Given the description of an element on the screen output the (x, y) to click on. 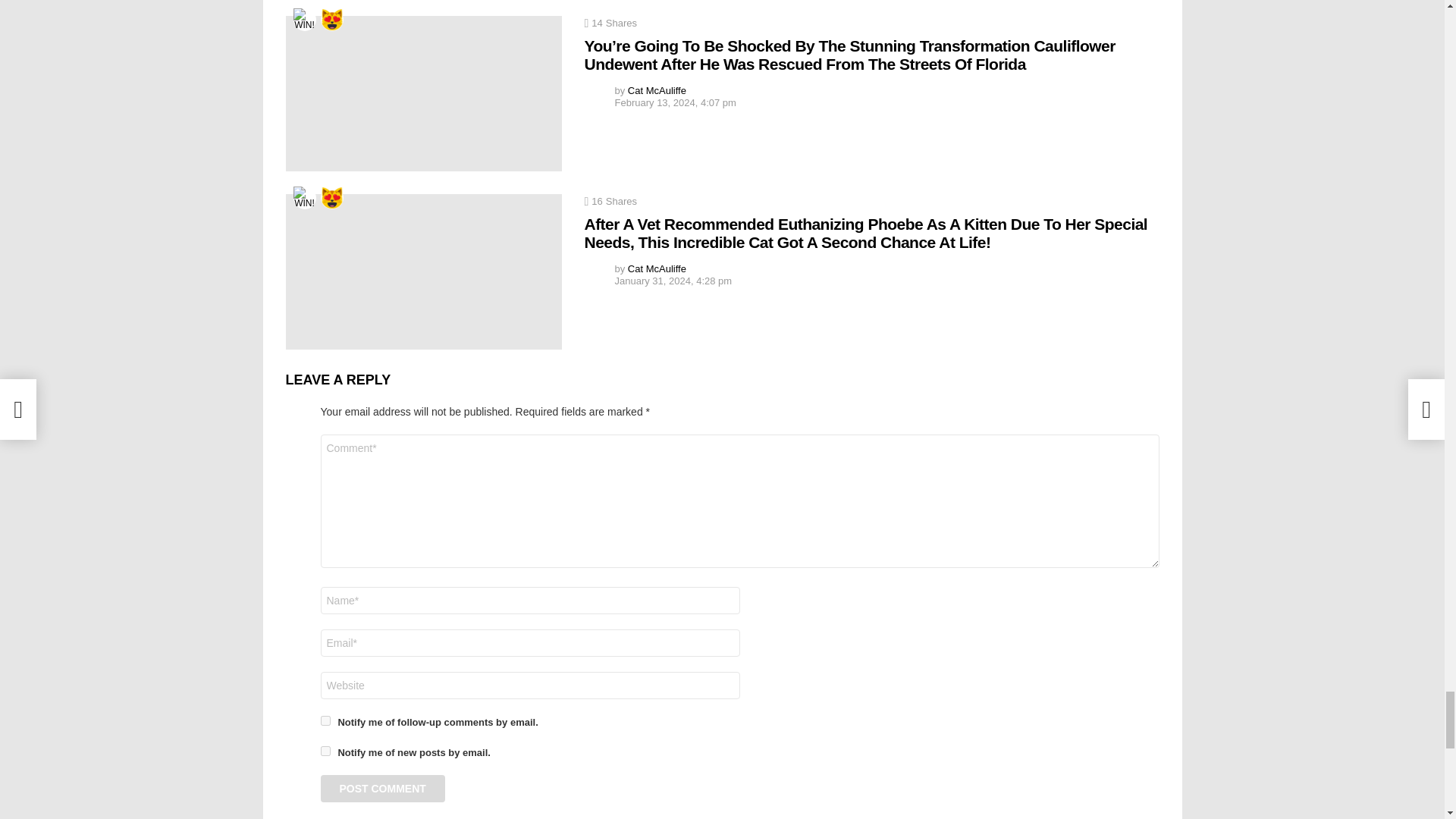
subscribe (325, 720)
Post Comment (382, 788)
subscribe (325, 750)
